Given the description of an element on the screen output the (x, y) to click on. 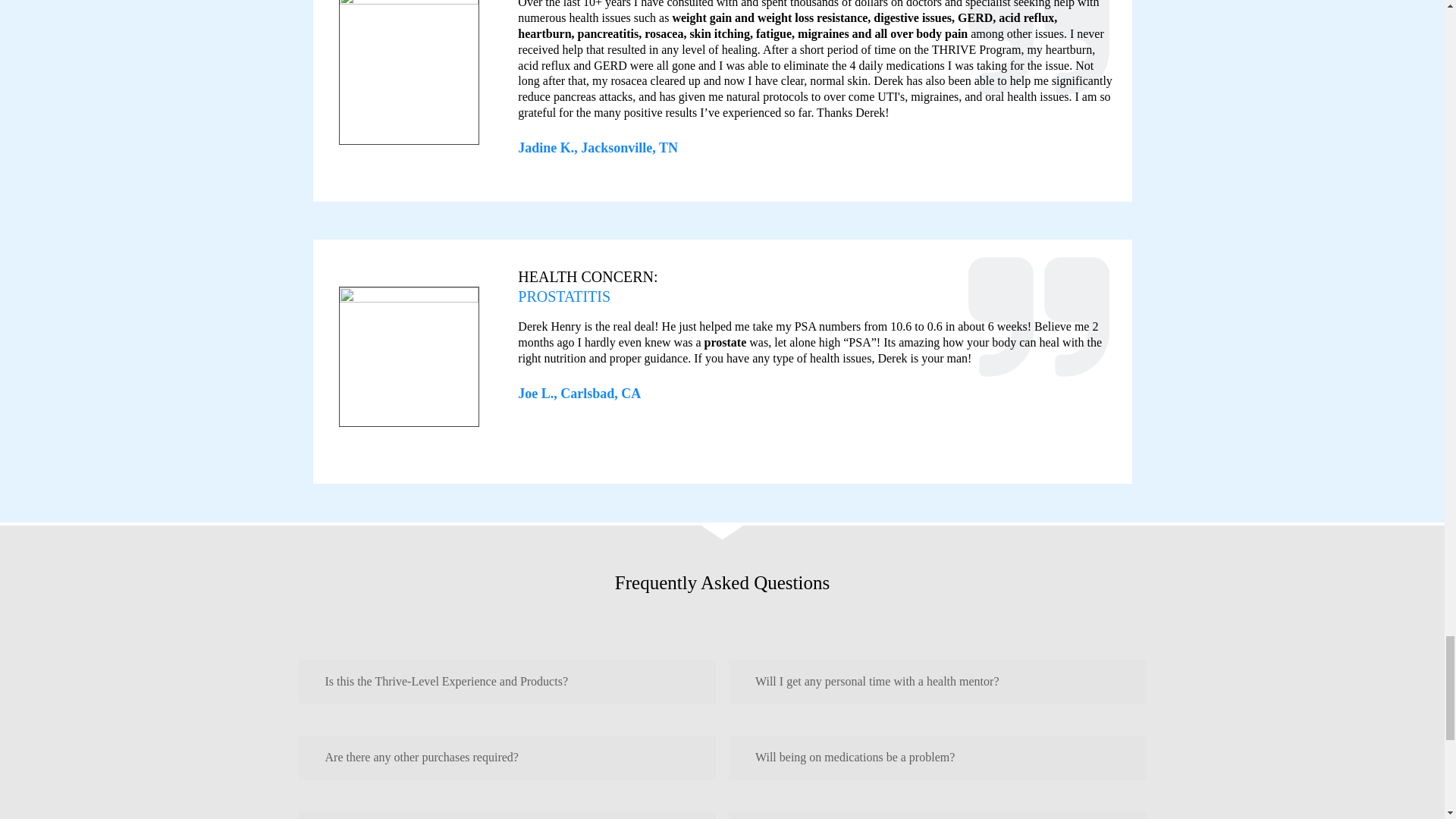
Joe L (409, 356)
quote-right (1038, 58)
Jadine K (409, 72)
quote-right (1038, 322)
